Given the description of an element on the screen output the (x, y) to click on. 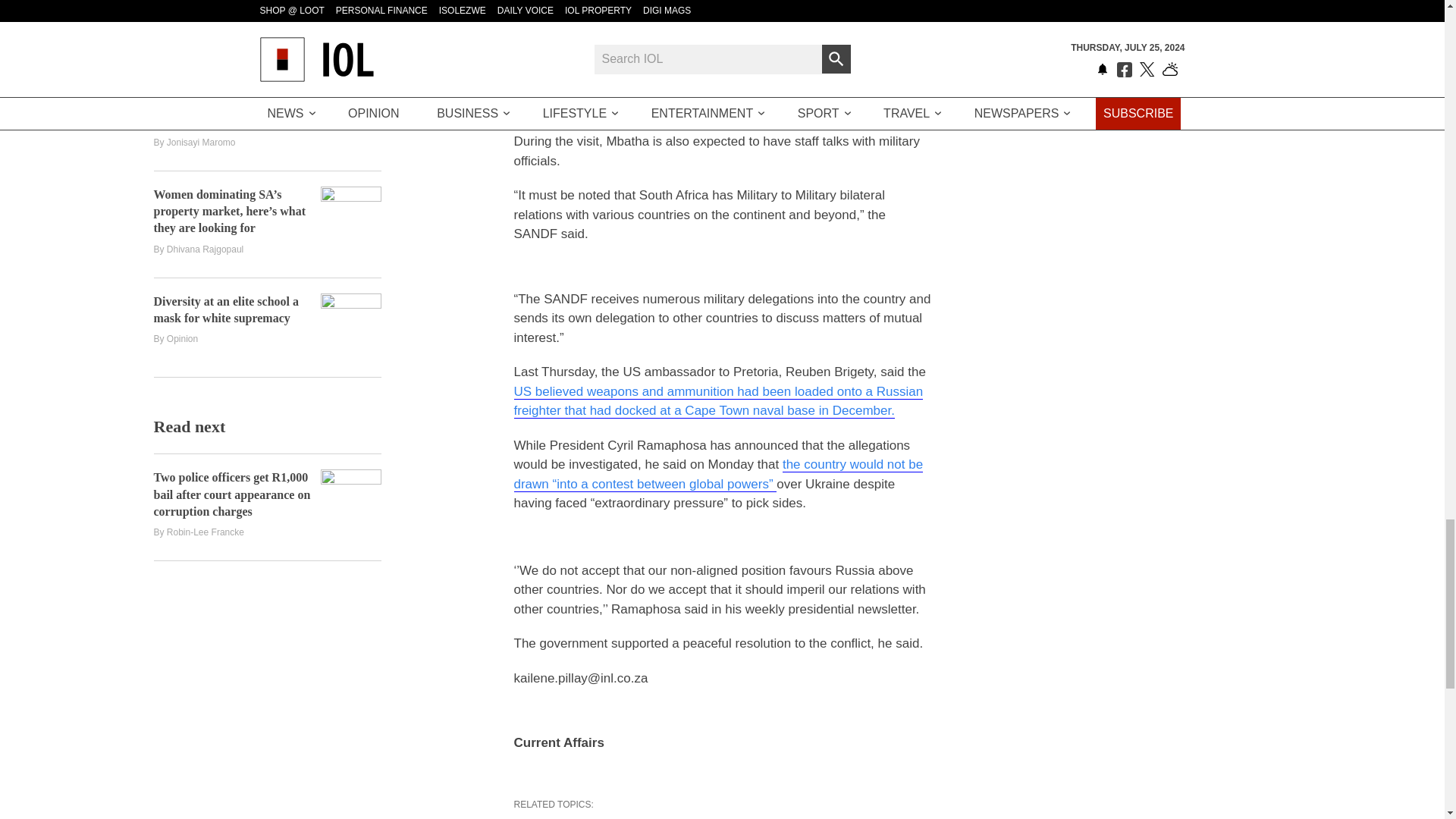
Ramaphosa newsletter (718, 474)
US accusation (718, 401)
